Given the description of an element on the screen output the (x, y) to click on. 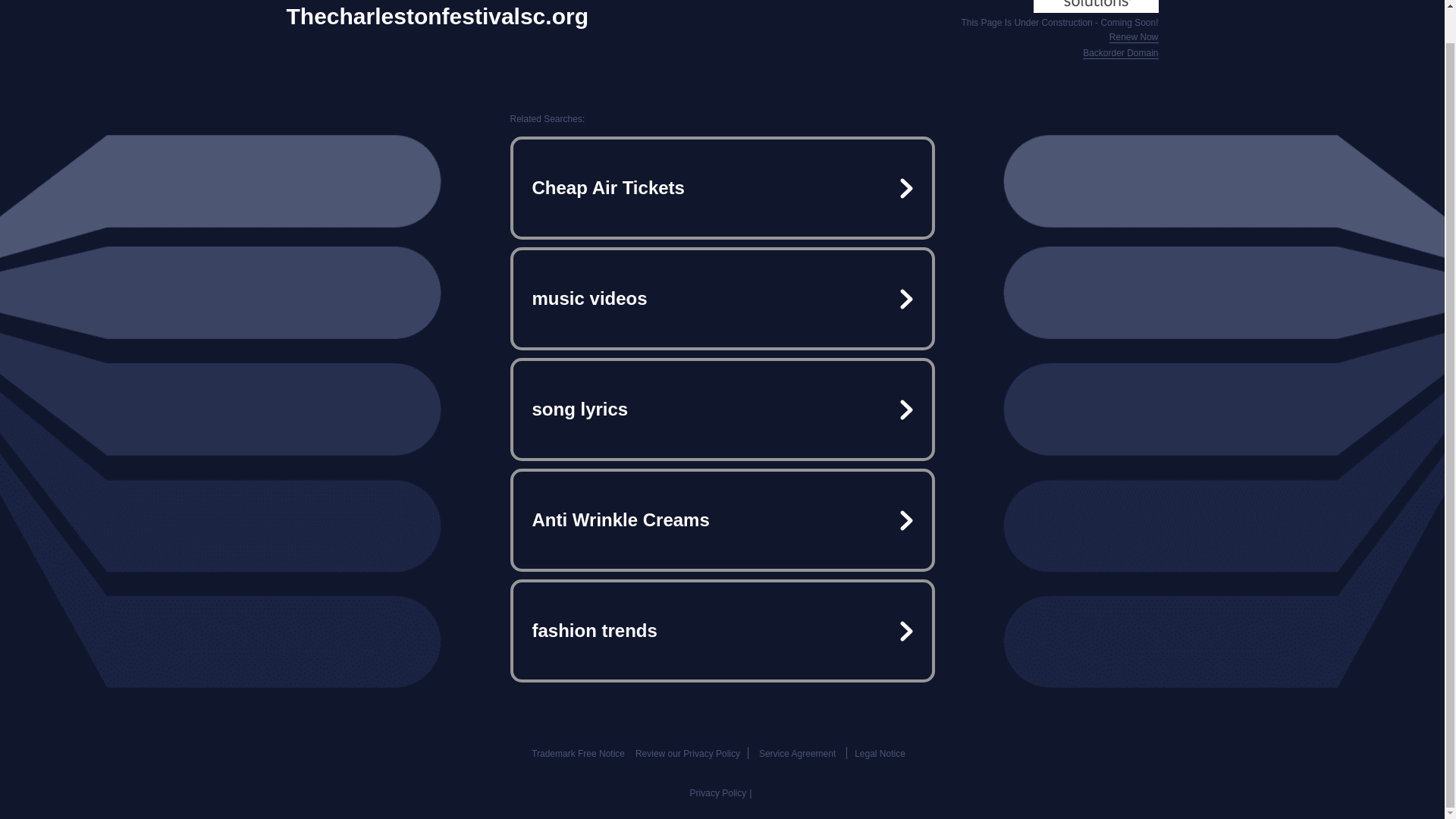
Legal Notice (879, 753)
Service Agreement (796, 753)
Privacy Policy (718, 792)
fashion trends (721, 630)
Anti Wrinkle Creams (721, 519)
Anti Wrinkle Creams (721, 519)
Cheap Air Tickets (721, 187)
Renew Now (1133, 37)
Trademark Free Notice (577, 753)
song lyrics (721, 409)
